Given the description of an element on the screen output the (x, y) to click on. 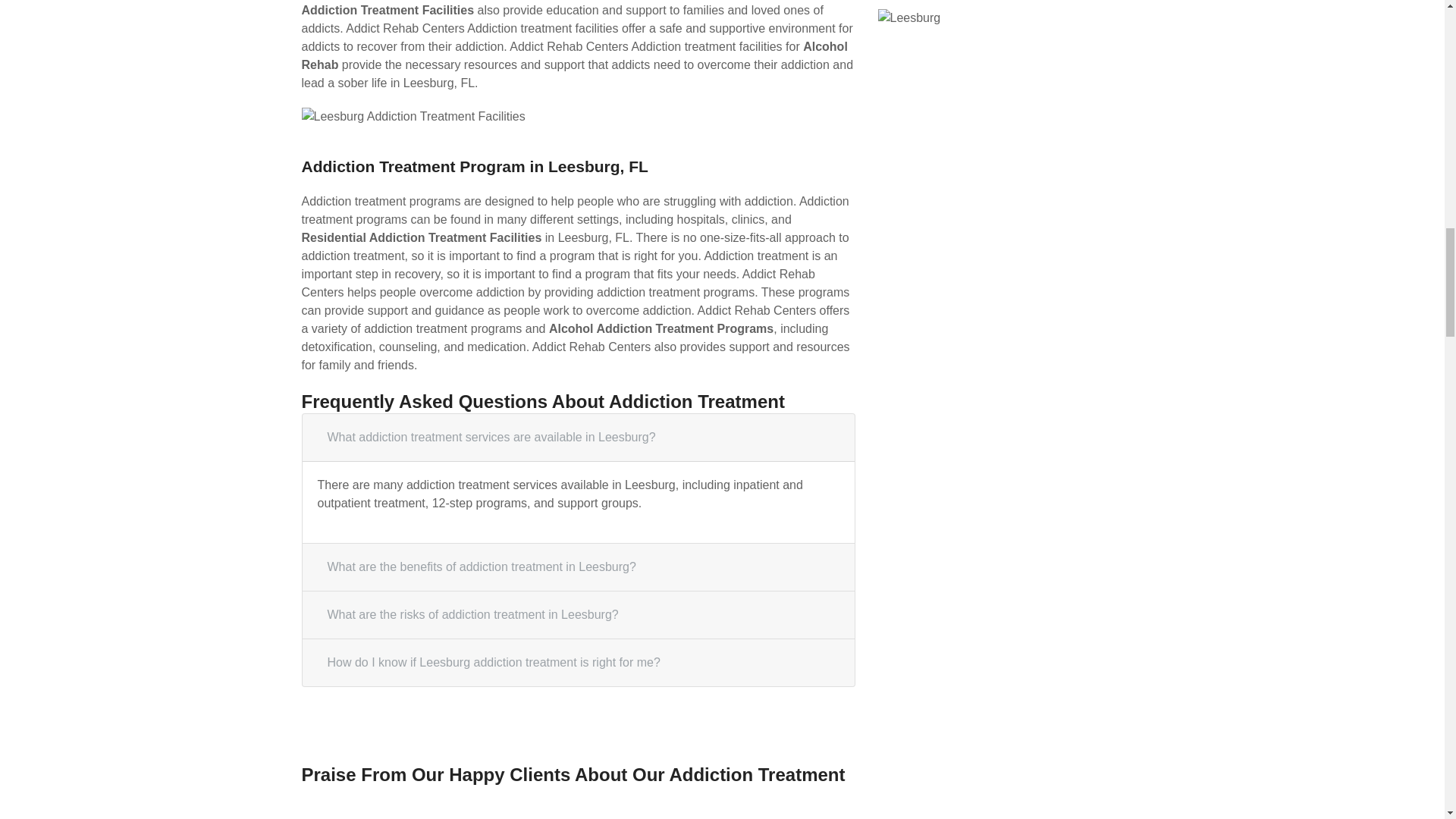
What are the risks of addiction treatment in Leesburg? (577, 614)
What addiction treatment services are available in Leesburg? (577, 437)
What are the benefits of addiction treatment in Leesburg? (577, 566)
Alcohol Rehab (574, 55)
